Given the description of an element on the screen output the (x, y) to click on. 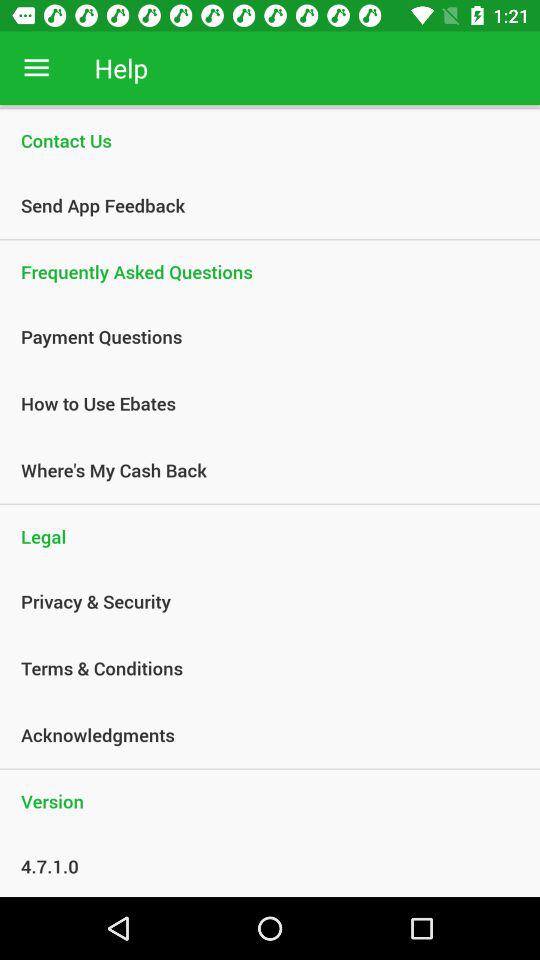
turn off the icon above the how to use (259, 336)
